Given the description of an element on the screen output the (x, y) to click on. 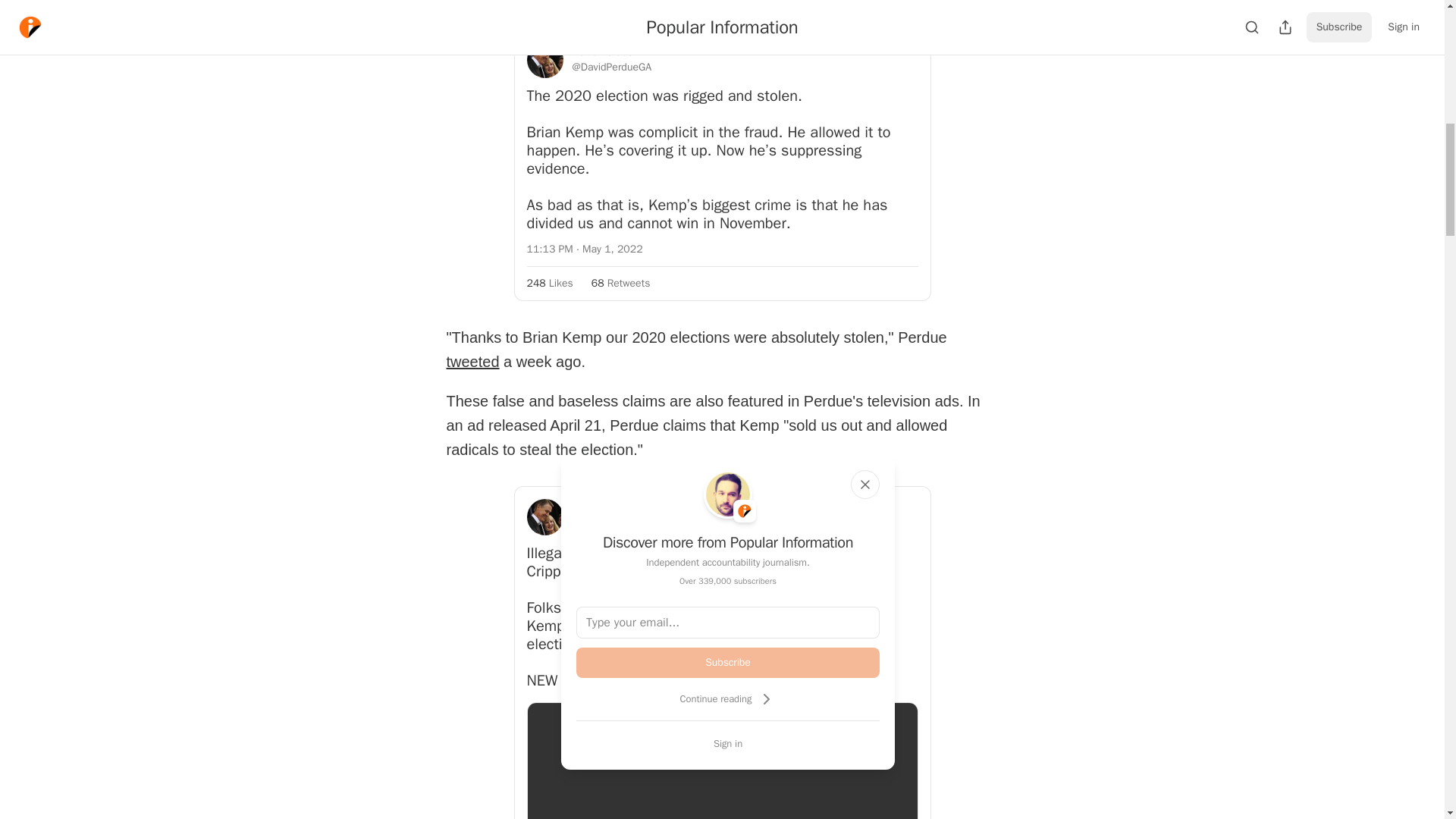
Sign in (727, 743)
tweeted (472, 361)
Subscribe (727, 662)
